Given the description of an element on the screen output the (x, y) to click on. 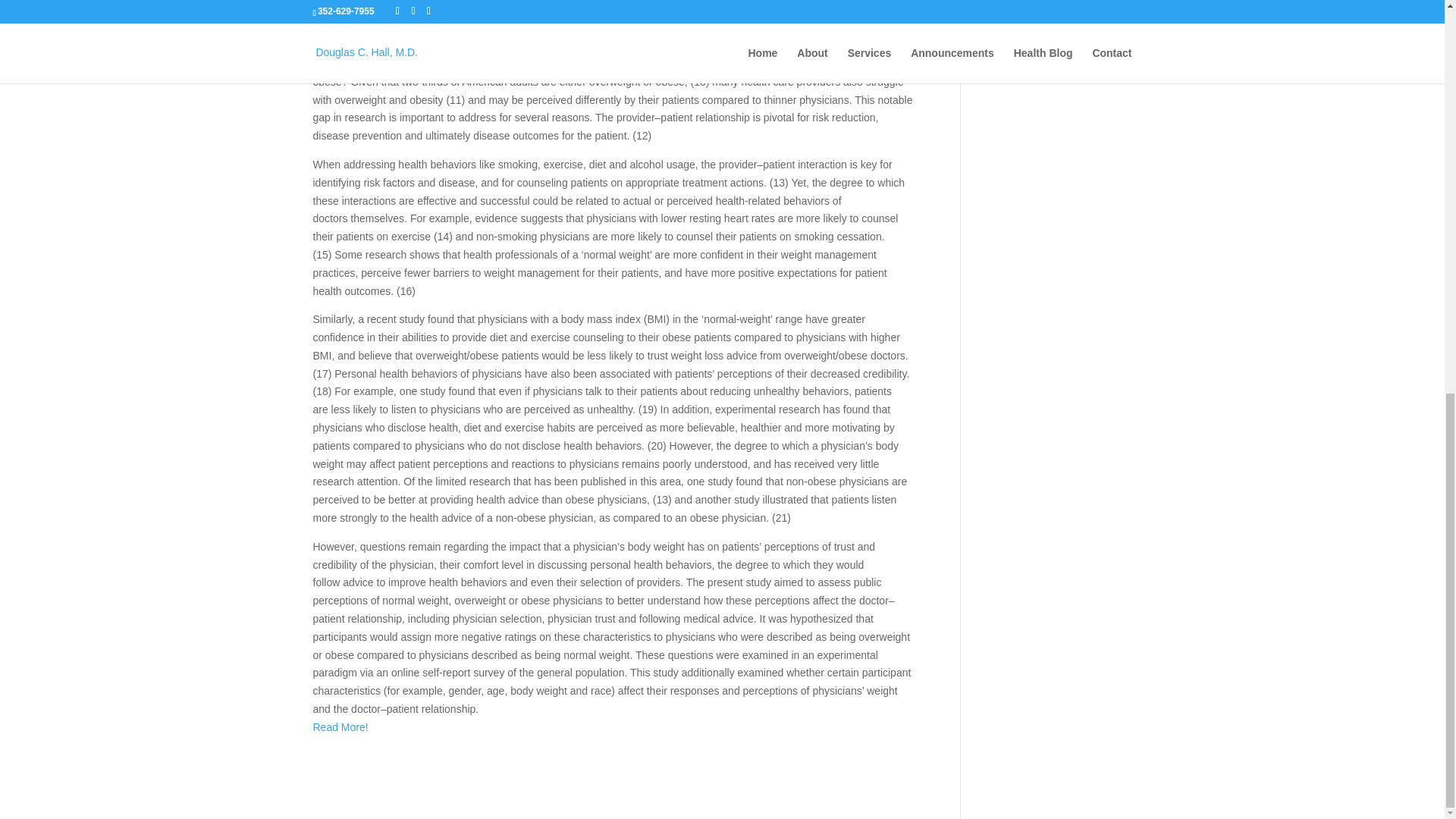
Read More! (340, 727)
